Given the description of an element on the screen output the (x, y) to click on. 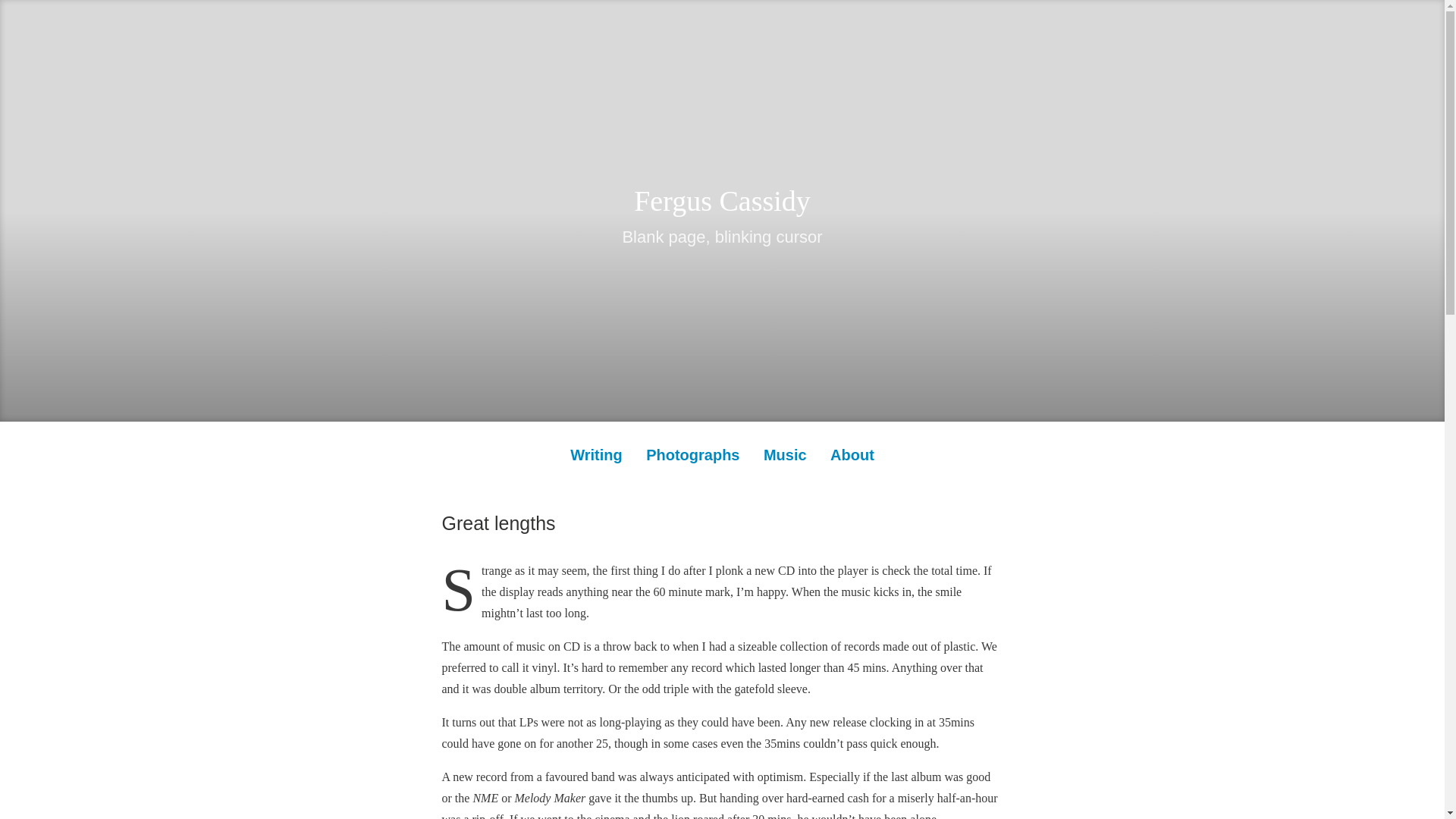
Photographs (692, 454)
About (852, 454)
Writing (596, 454)
Fergus Cassidy (721, 201)
Music (784, 454)
